Given the description of an element on the screen output the (x, y) to click on. 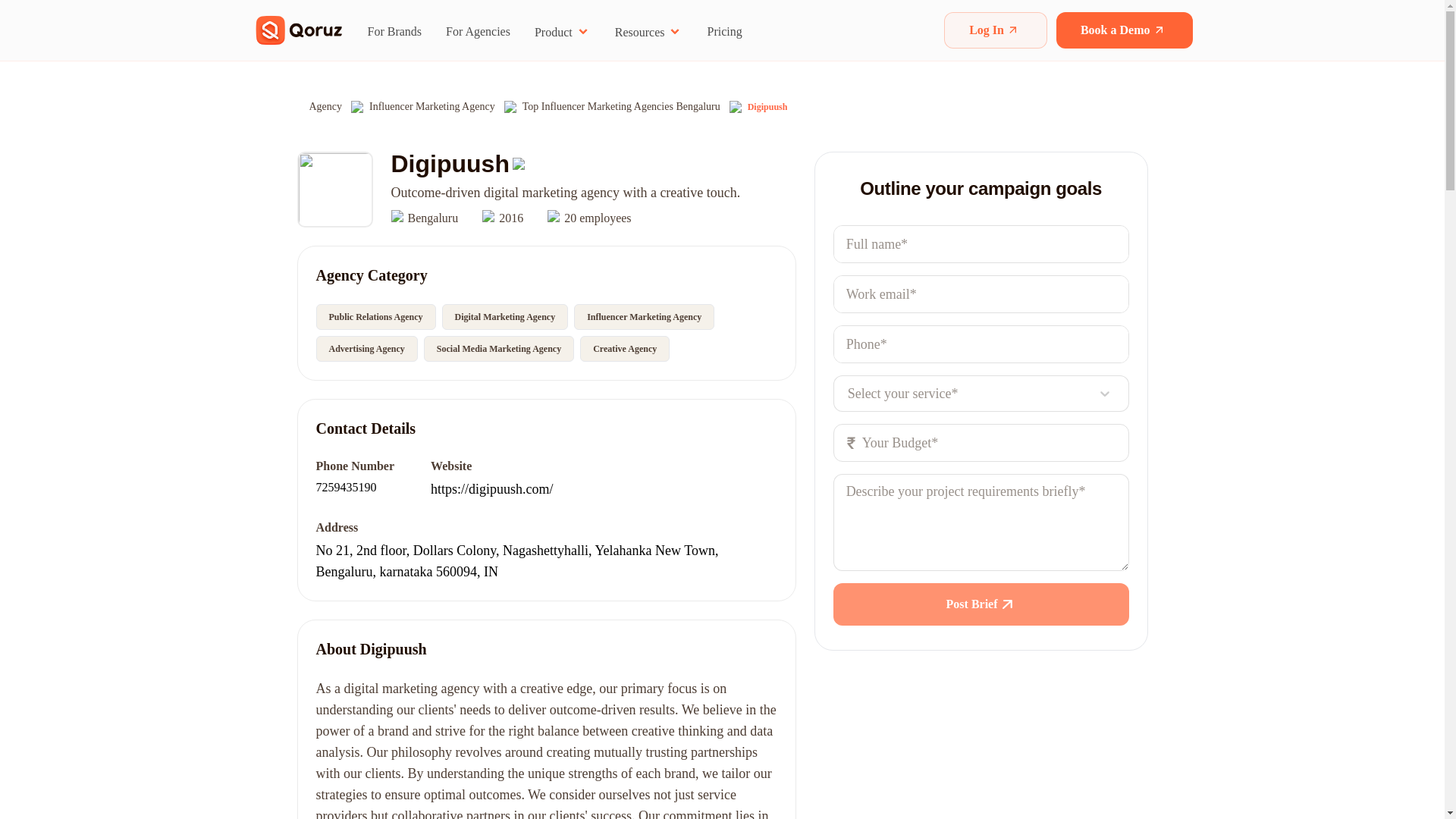
Agency (325, 106)
Resources (648, 31)
Log In (994, 30)
Post Brief (980, 604)
Book a Demo (1124, 30)
For Agencies (478, 31)
Top Influencer Marketing Agencies Bengaluru (621, 106)
Influencer Marketing Agency (432, 106)
For Brands (394, 31)
Digipuush (767, 106)
